Given the description of an element on the screen output the (x, y) to click on. 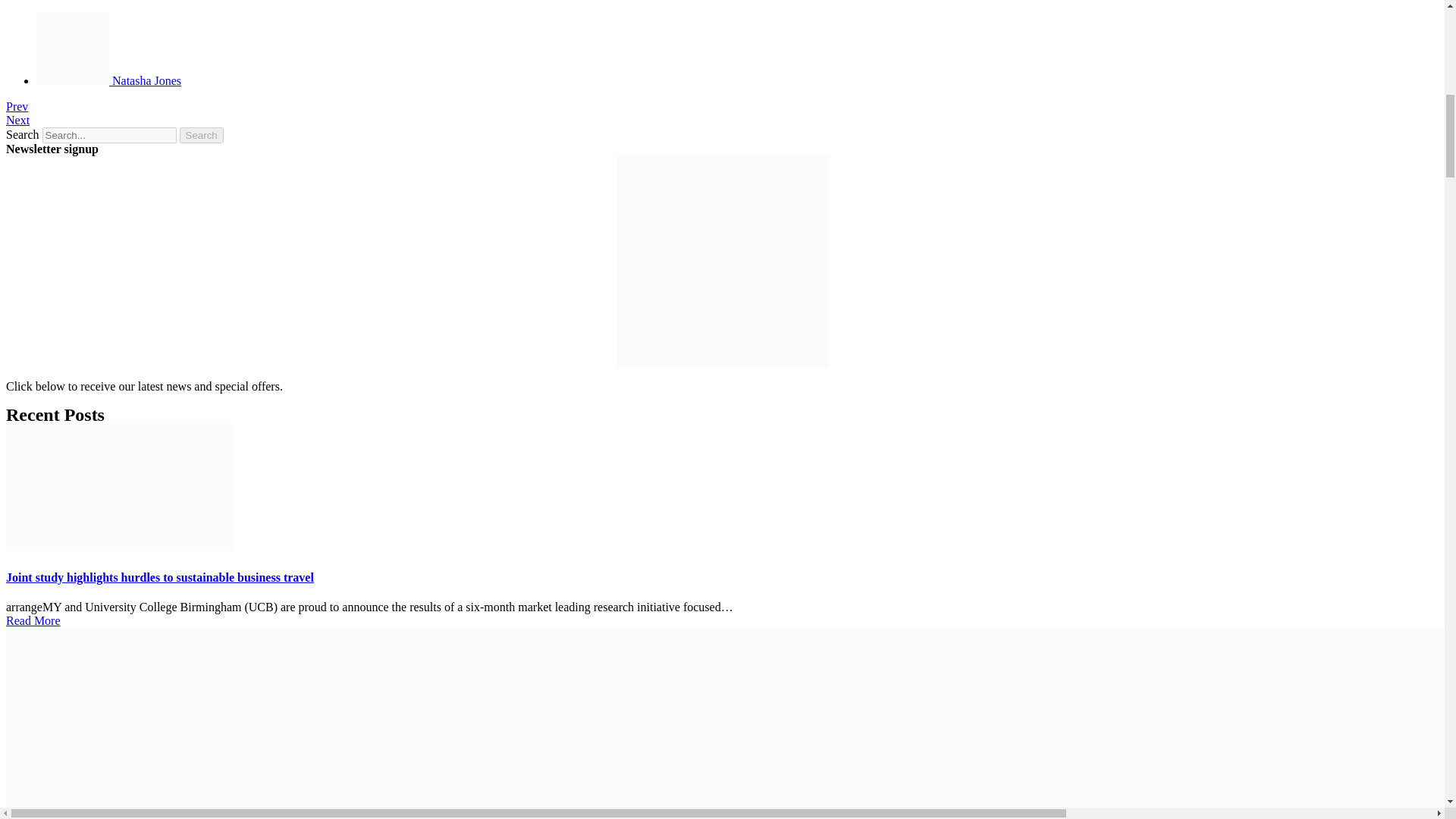
Read More (33, 620)
Next (17, 119)
Natasha Jones (108, 80)
Search (201, 135)
Prev (16, 106)
